Given the description of an element on the screen output the (x, y) to click on. 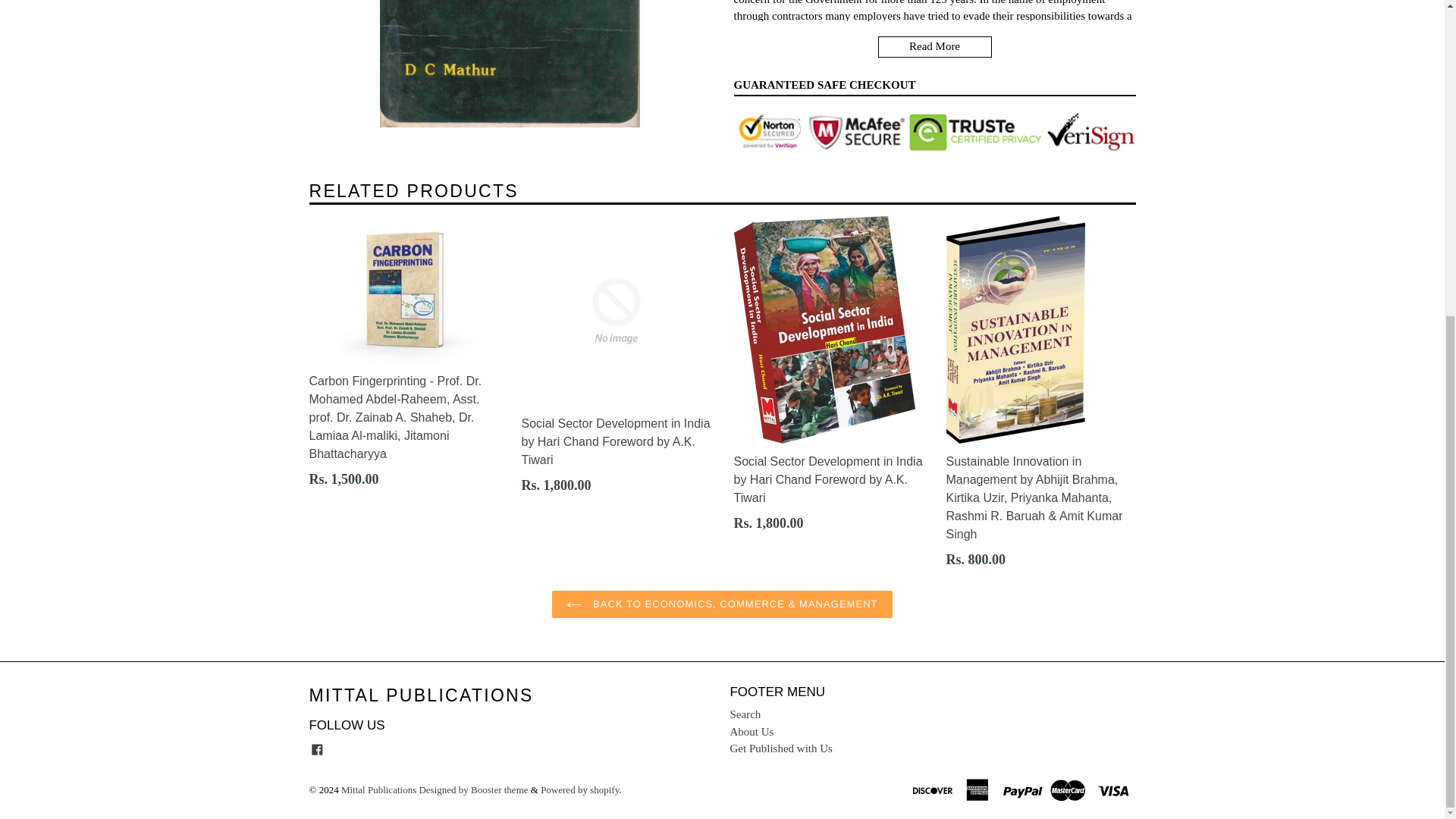
Read More (934, 46)
american express (979, 788)
visa (1114, 788)
Mittal Publications on Facebook (316, 748)
discover (933, 788)
paypal (1024, 788)
